Given the description of an element on the screen output the (x, y) to click on. 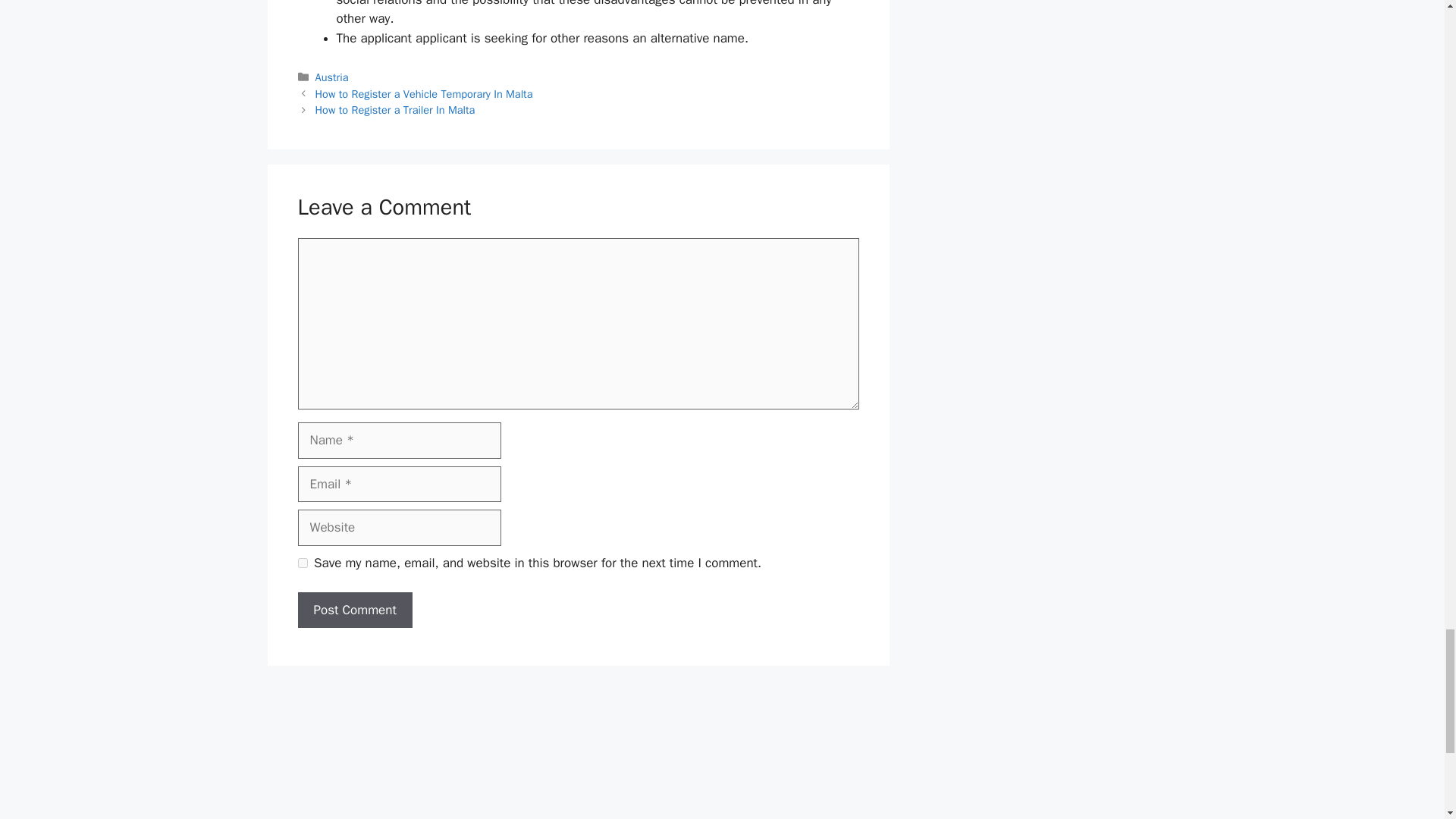
Post Comment (354, 610)
How to Register a Vehicle Temporary In Malta (423, 93)
yes (302, 562)
Post Comment (354, 610)
Austria (332, 77)
How to Register a Trailer In Malta (395, 110)
